Given the description of an element on the screen output the (x, y) to click on. 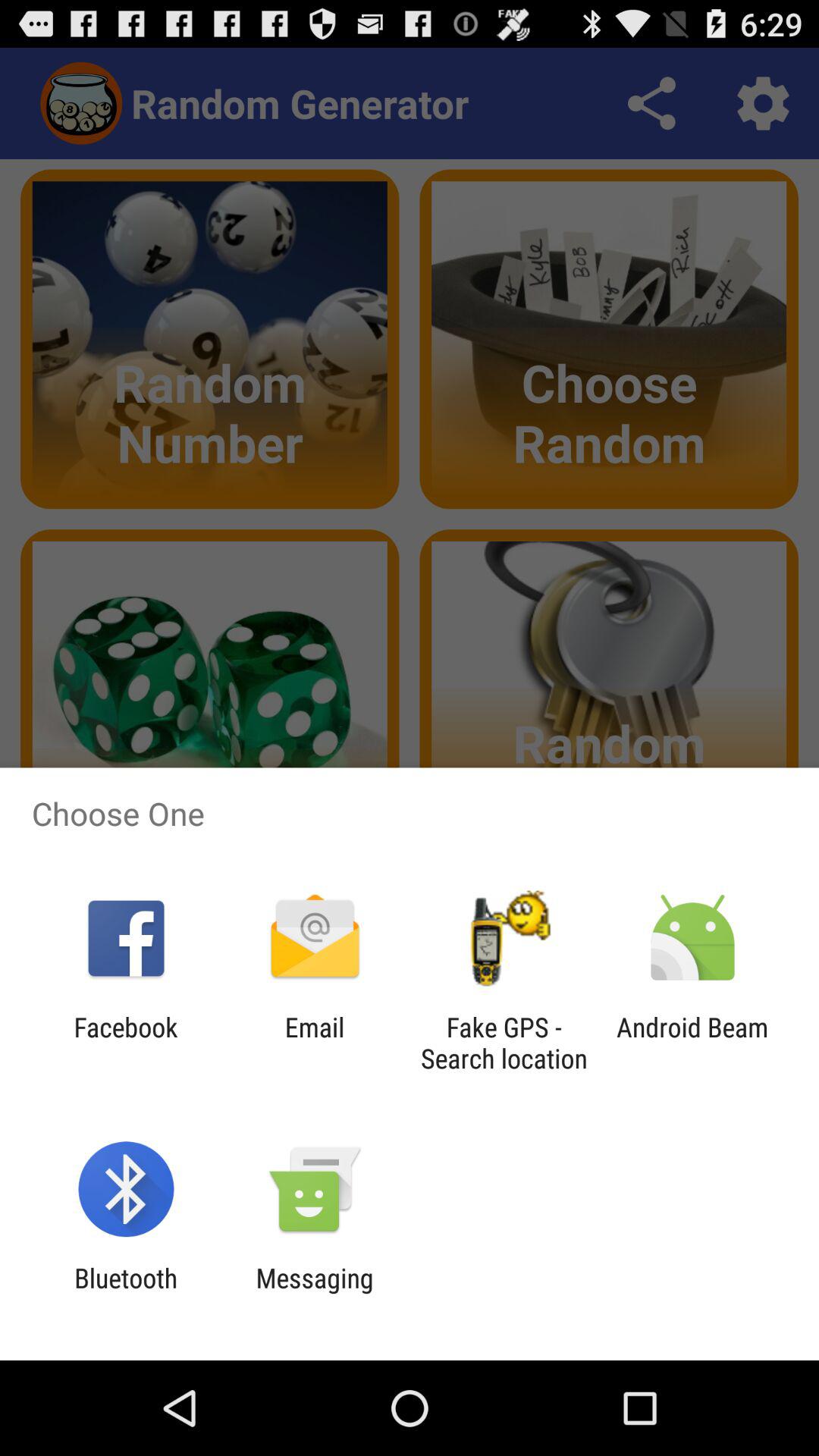
turn off the app to the left of the messaging item (125, 1293)
